Given the description of an element on the screen output the (x, y) to click on. 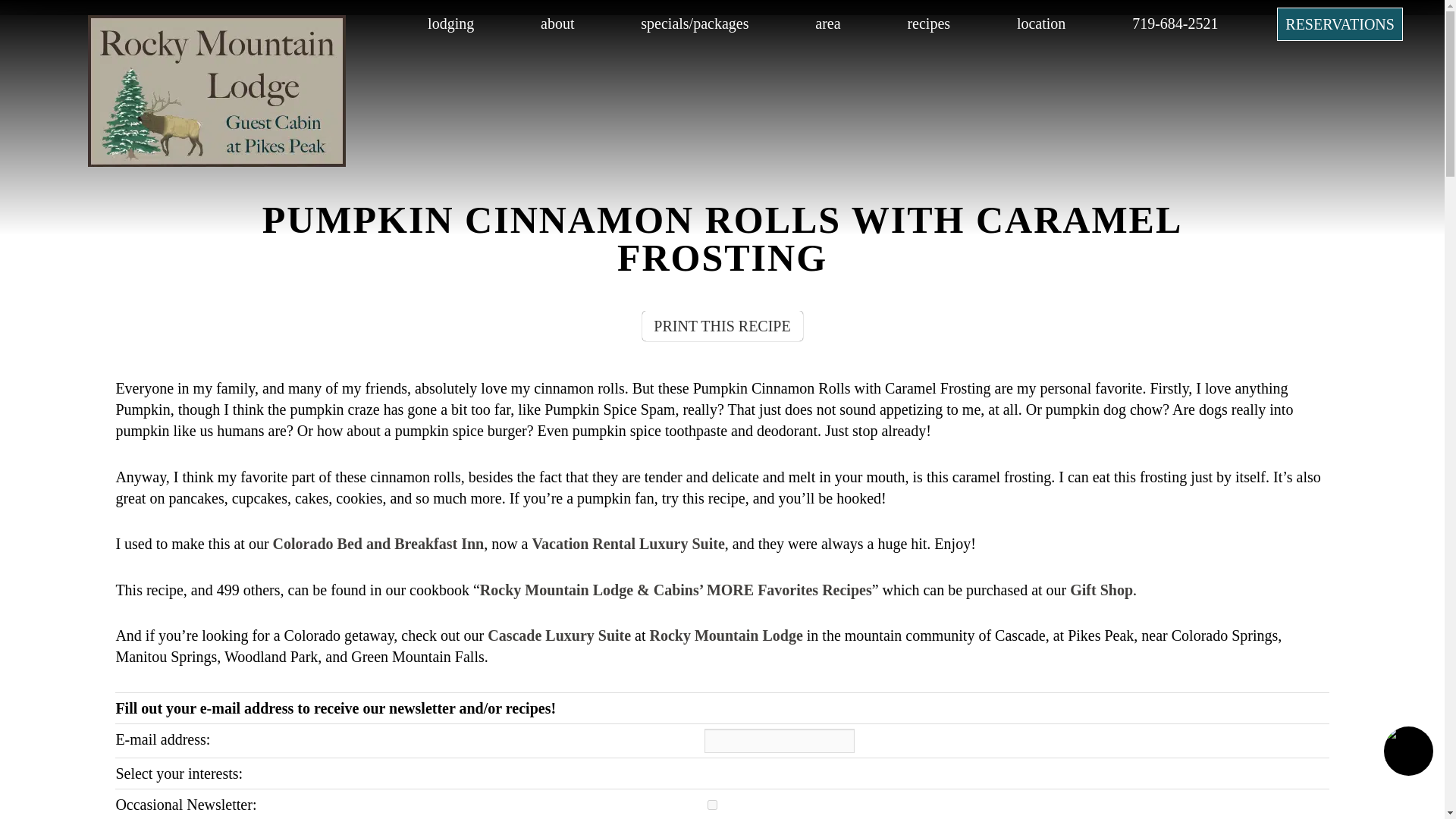
PRINT THIS RECIPE (722, 326)
1 (712, 804)
location (1040, 24)
RESERVATIONS (1339, 23)
Rocky Mountain Lodge (216, 161)
lodging (451, 24)
719-684-2521 (1174, 24)
logo (180, 24)
recipes (928, 24)
